Given the description of an element on the screen output the (x, y) to click on. 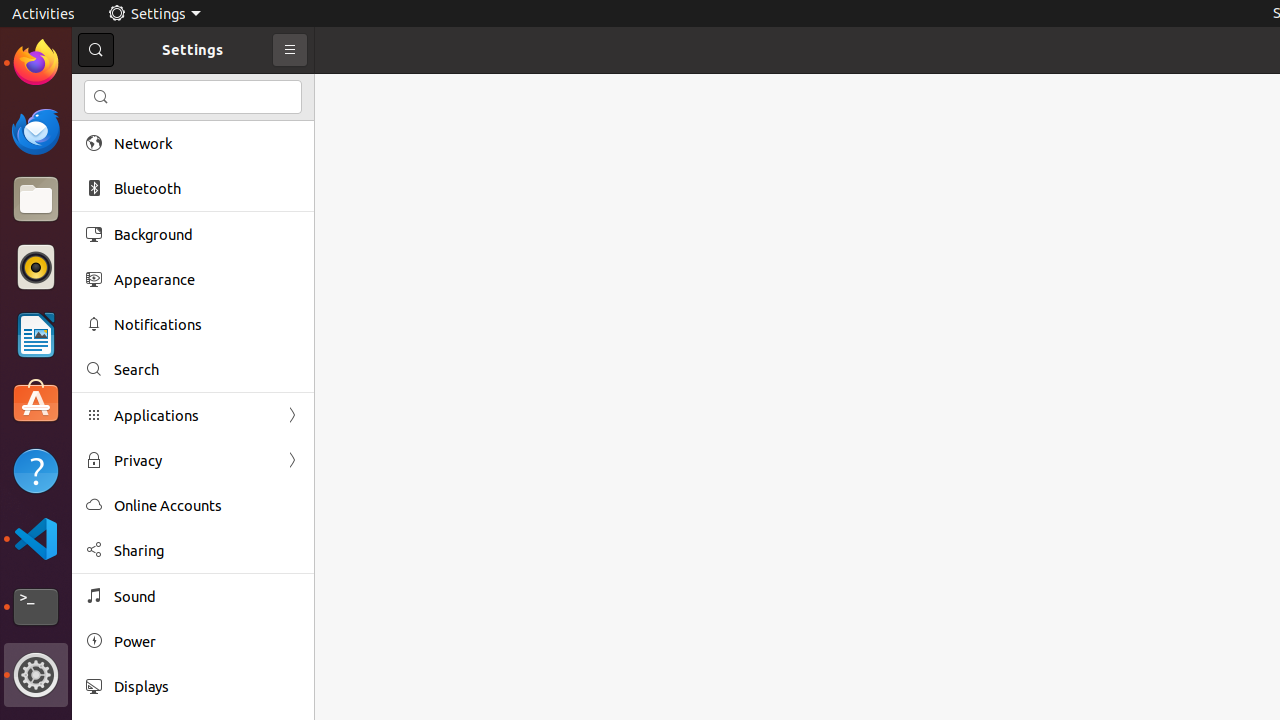
Trash Element type: label (133, 191)
Forward Element type: icon (292, 460)
Displays Element type: label (207, 686)
Privacy Element type: label (193, 460)
IsaHelpMain.desktop Element type: label (133, 300)
